Given the description of an element on the screen output the (x, y) to click on. 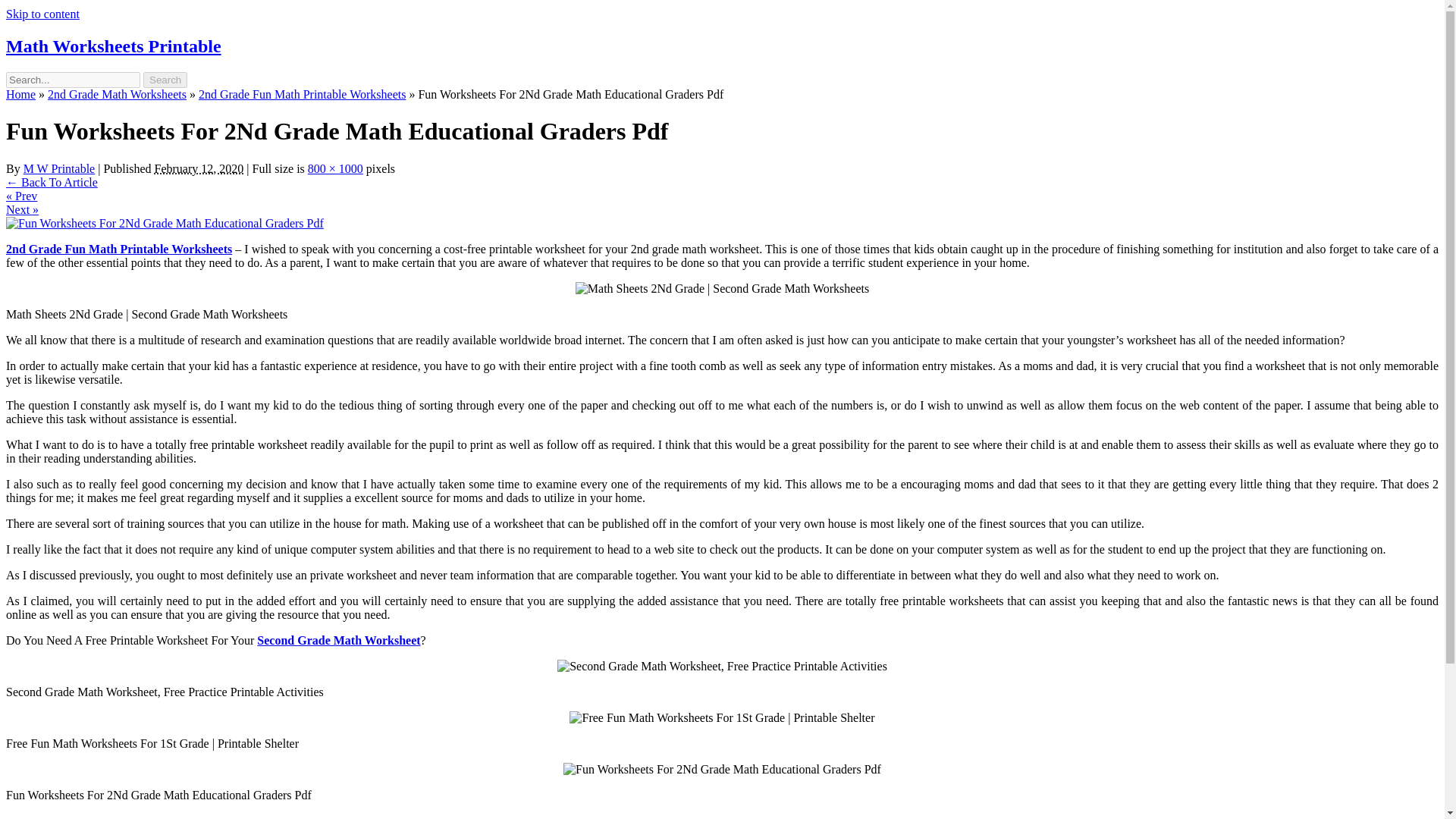
Link to full-size image (334, 168)
Search (164, 79)
Home (19, 93)
2nd Grade Math Worksheets (117, 93)
2nd Grade Fun Math Printable Worksheets (302, 93)
Search for: (72, 79)
7:07 pm (199, 168)
M W Printable (59, 168)
Second Grade Math Worksheet (338, 640)
Skip to content (42, 13)
Fun Worksheets For 2Nd Grade Math Educational Graders Pdf (164, 223)
Search (164, 79)
free fun math worksheets for 1st grade printable shelter 14 (722, 717)
fun worksheets for 2nd grade math educational graders pdf 2 (721, 769)
math sheets 2nd grade second grade math worksheets (722, 288)
